Given the description of an element on the screen output the (x, y) to click on. 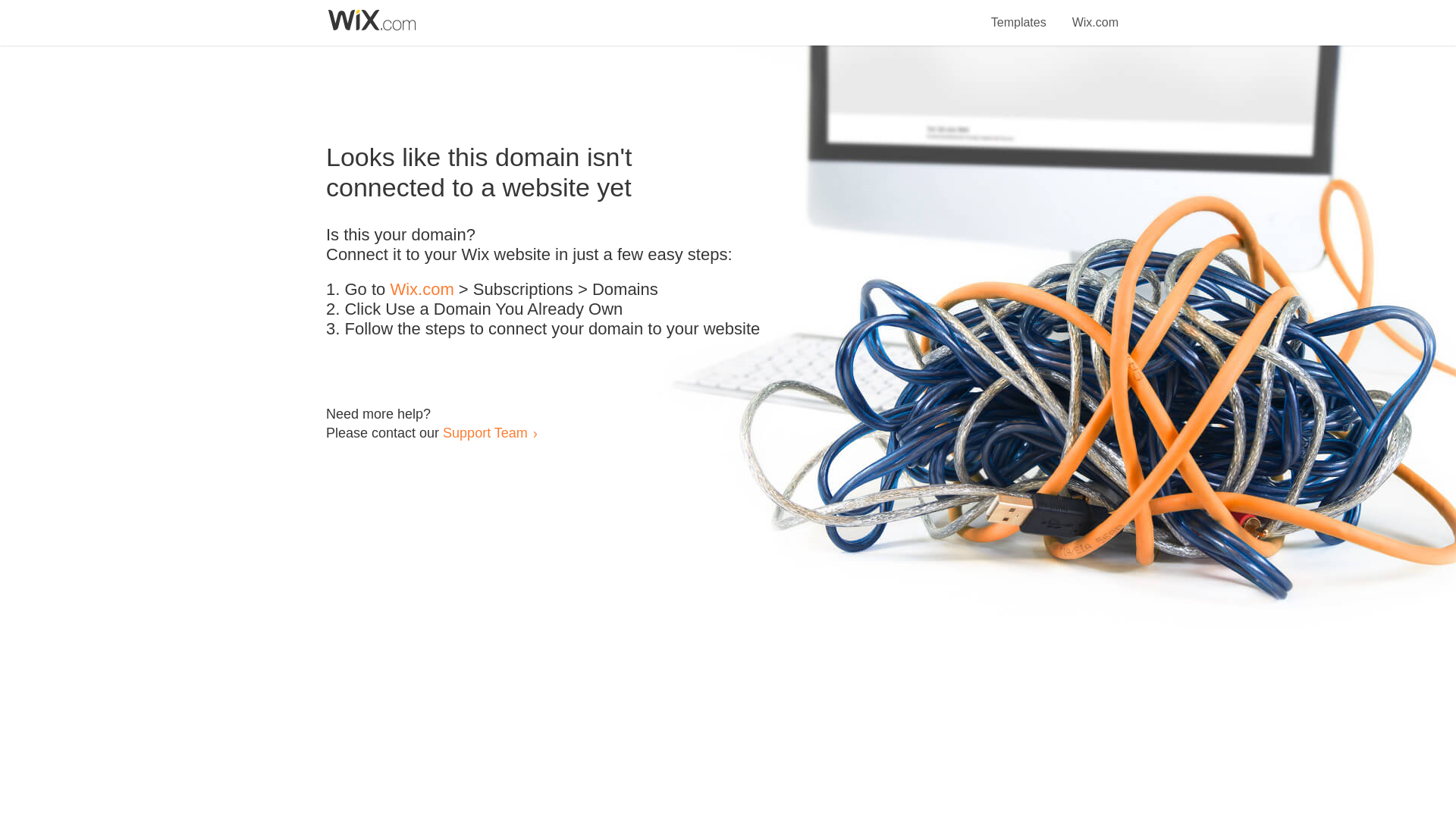
Support Team (484, 432)
Wix.com (421, 289)
Templates (1018, 14)
Wix.com (1095, 14)
